Given the description of an element on the screen output the (x, y) to click on. 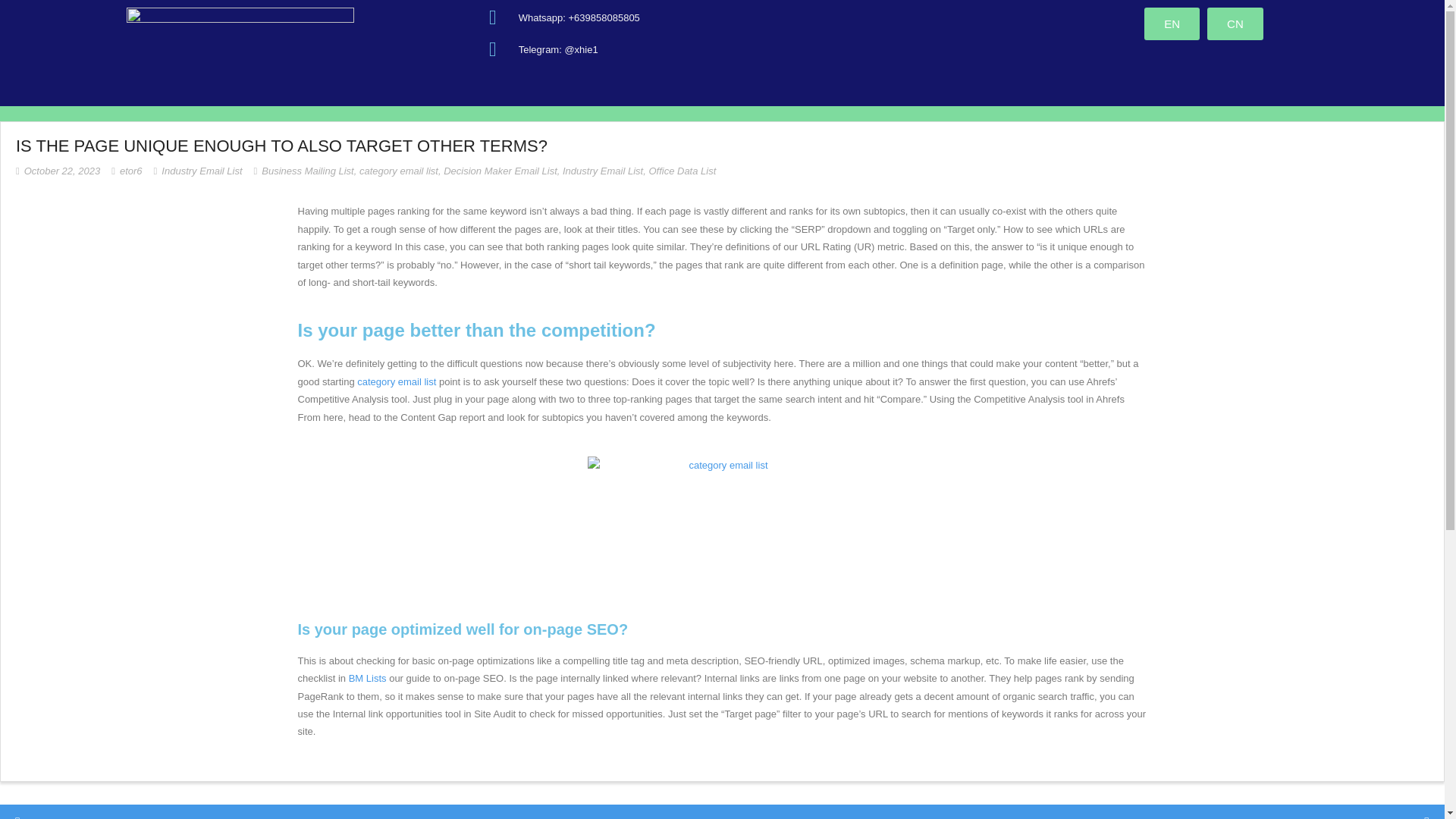
October 22, 2023 (62, 170)
BM Lists (368, 677)
category email list (395, 381)
View all posts by etor6 (130, 170)
PREVIOUS (50, 814)
CN (1235, 23)
EN (1171, 23)
category email list (398, 170)
NEXT (1406, 814)
Industry Email List (602, 170)
